Given the description of an element on the screen output the (x, y) to click on. 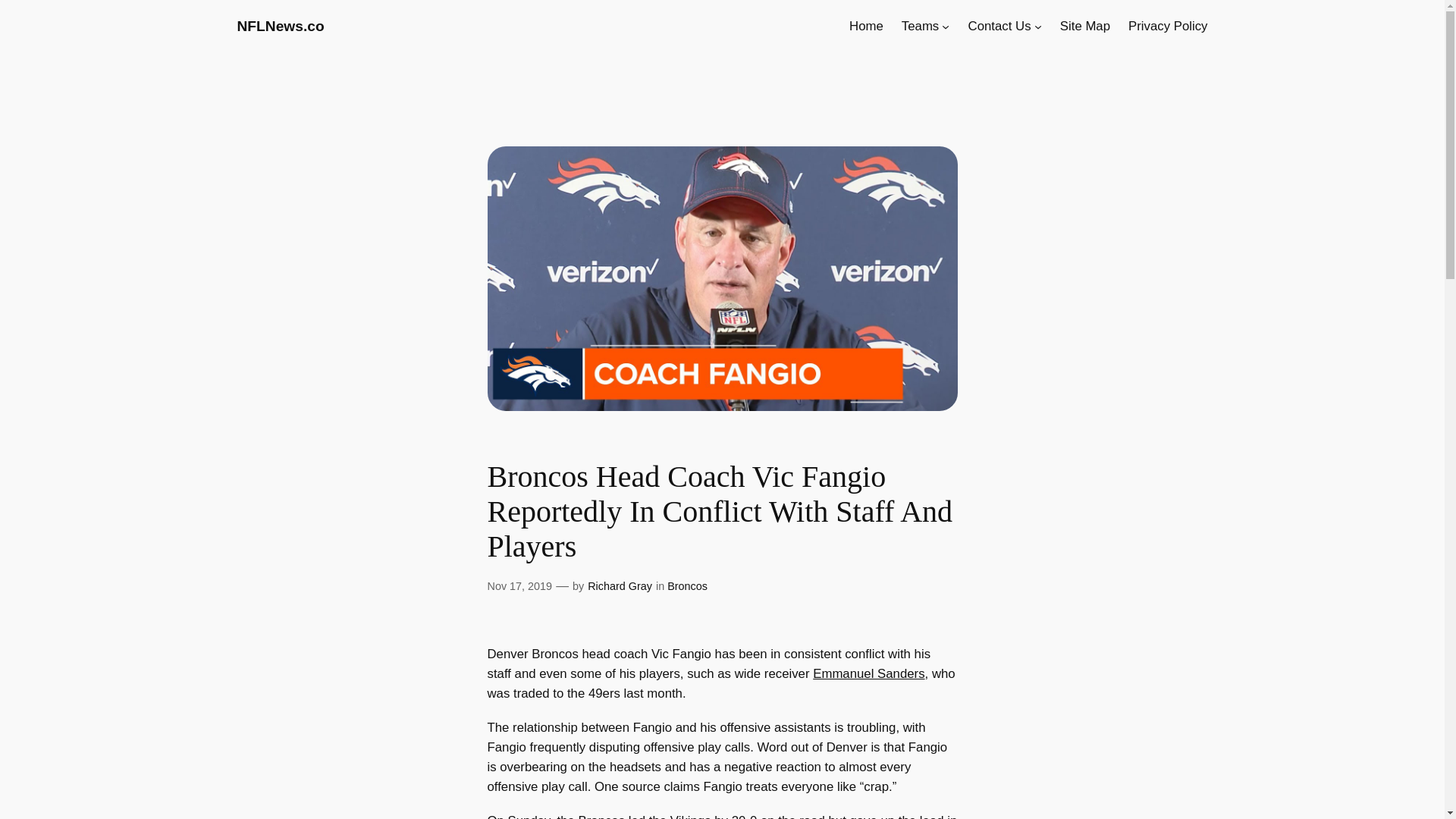
Teams (920, 26)
Home (865, 26)
NFLNews.co (279, 26)
